Given the description of an element on the screen output the (x, y) to click on. 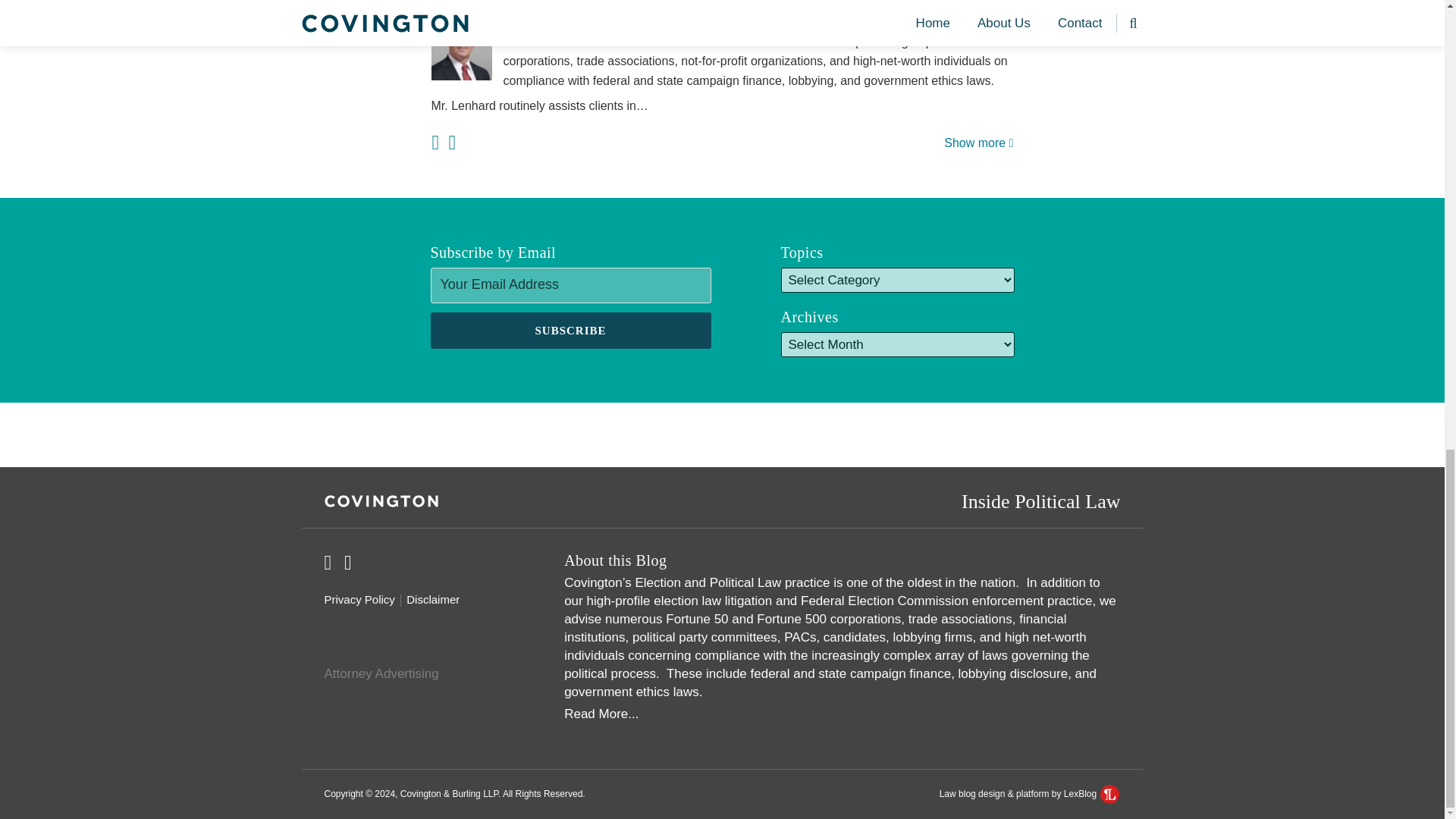
Disclaimer (433, 599)
Inside Political Law (1039, 500)
Robert Lenhard (721, 22)
Read More... (841, 714)
Privacy Policy (359, 599)
Subscribe (570, 330)
LexBlog Logo (1109, 793)
Subscribe (570, 330)
Show more (978, 142)
